Given the description of an element on the screen output the (x, y) to click on. 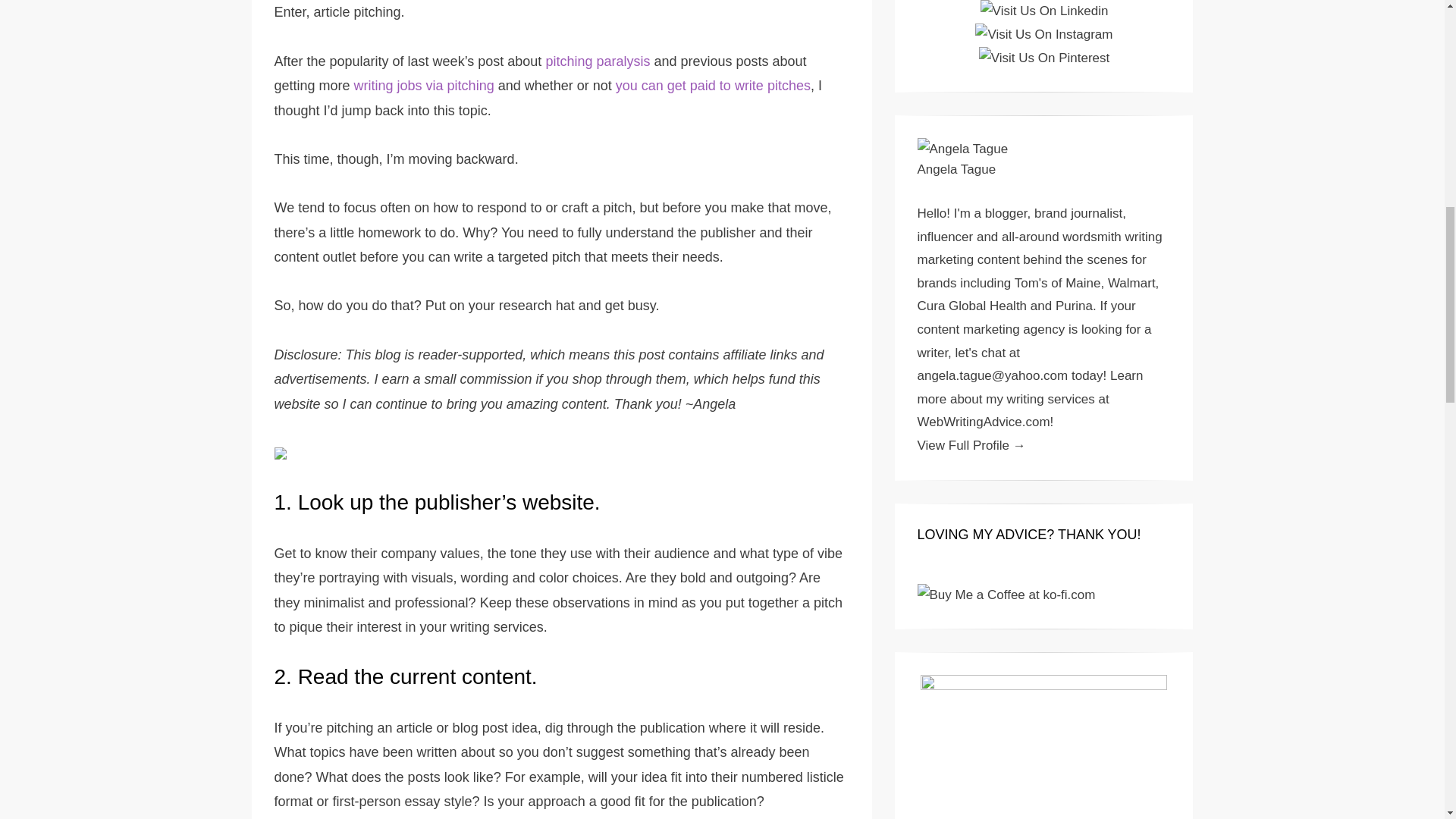
you can get paid to write pitches (712, 85)
writing jobs via pitching (424, 85)
pitching paralysis (596, 61)
